Given the description of an element on the screen output the (x, y) to click on. 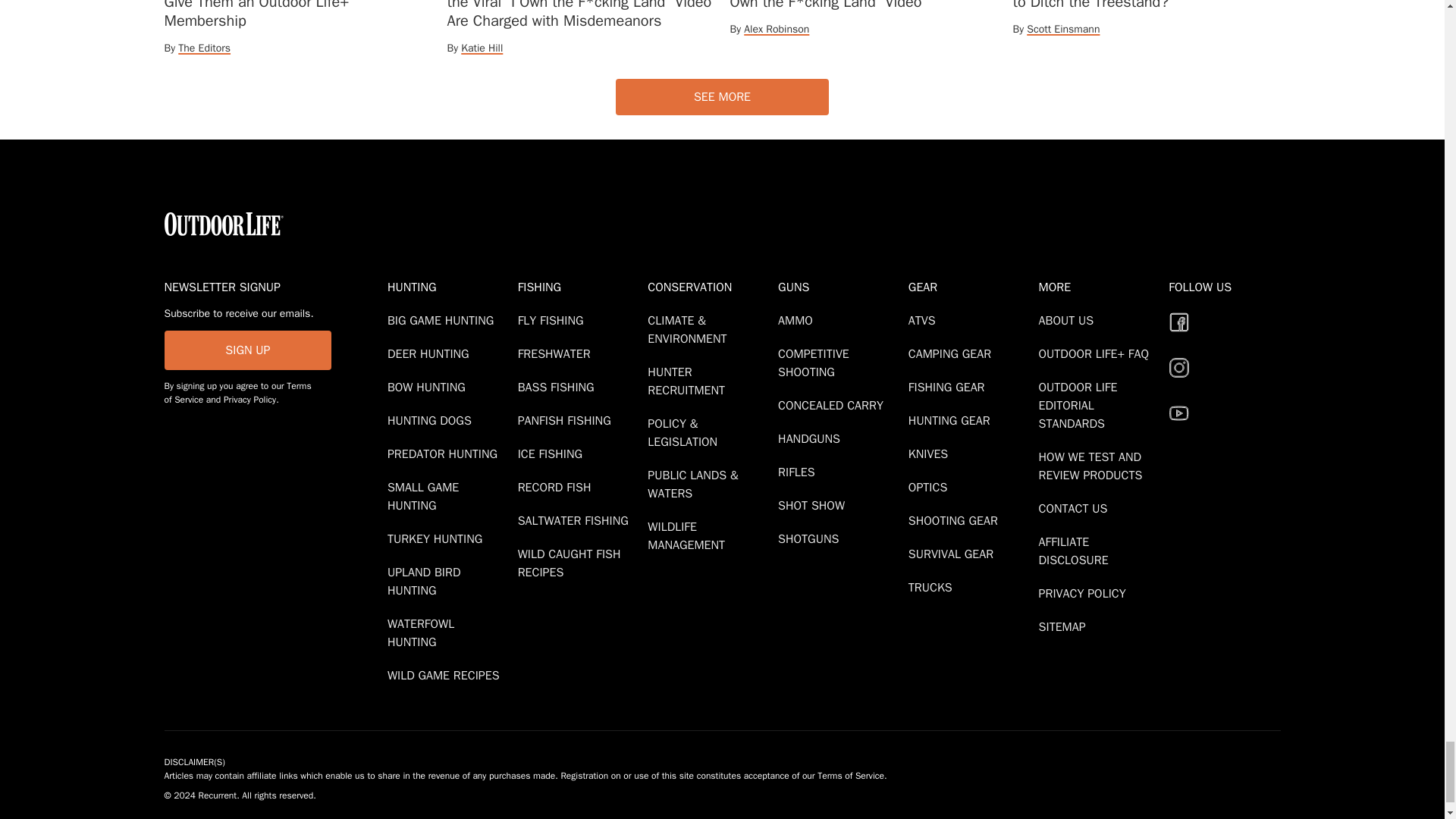
Conservation (709, 287)
Big Game Hunting (443, 320)
Deer Hunting (431, 353)
Hunting (449, 287)
Fly Fishing (553, 320)
Fishing (580, 287)
